Given the description of an element on the screen output the (x, y) to click on. 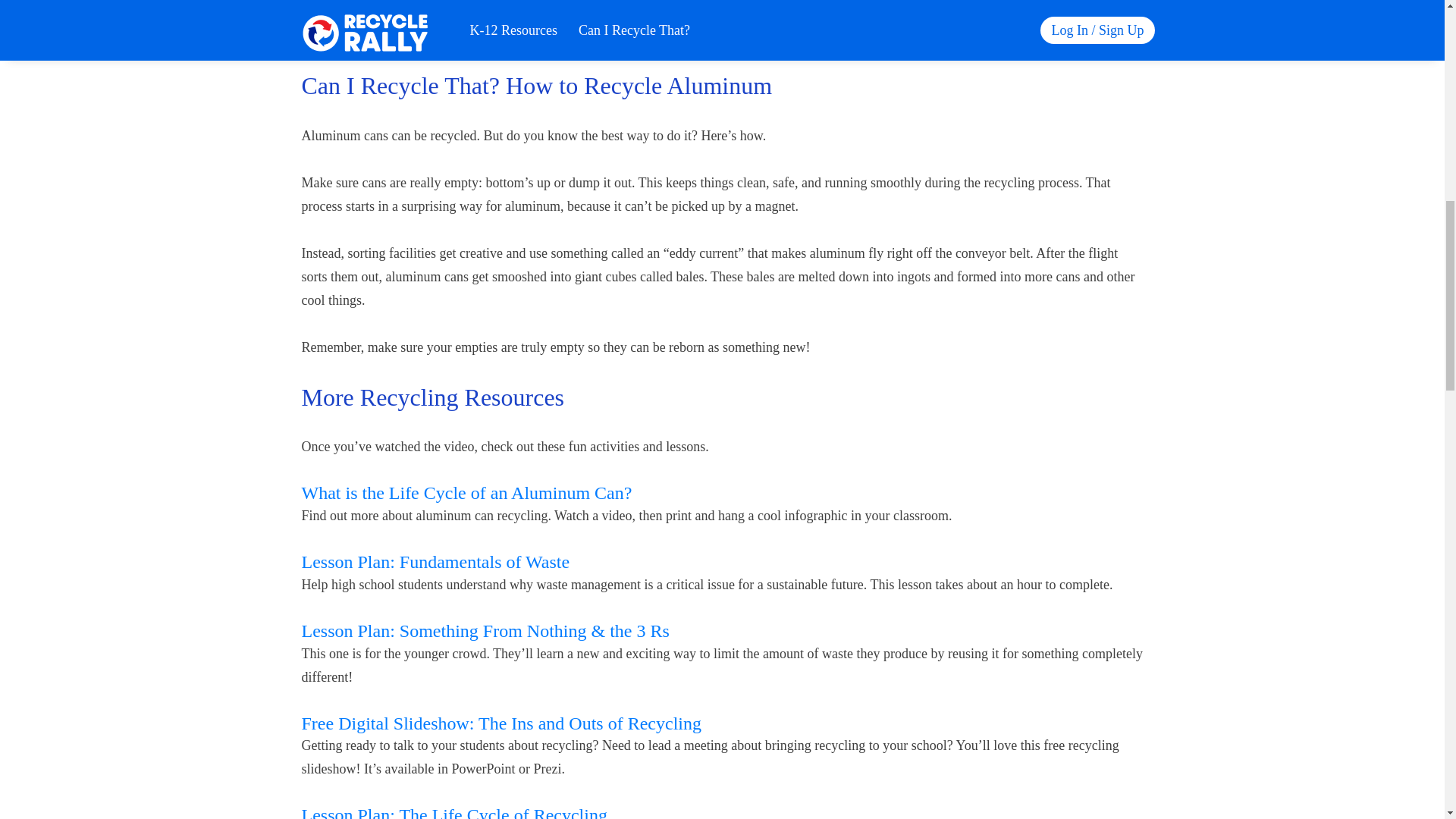
Lesson Plan: Fundamentals of Waste (435, 561)
Free Digital Slideshow: The Ins and Outs of Recycling (501, 723)
What is the Life Cycle of an Aluminum Can? (466, 492)
Lesson Plan: The Life Cycle of Recycling (454, 812)
